Given the description of an element on the screen output the (x, y) to click on. 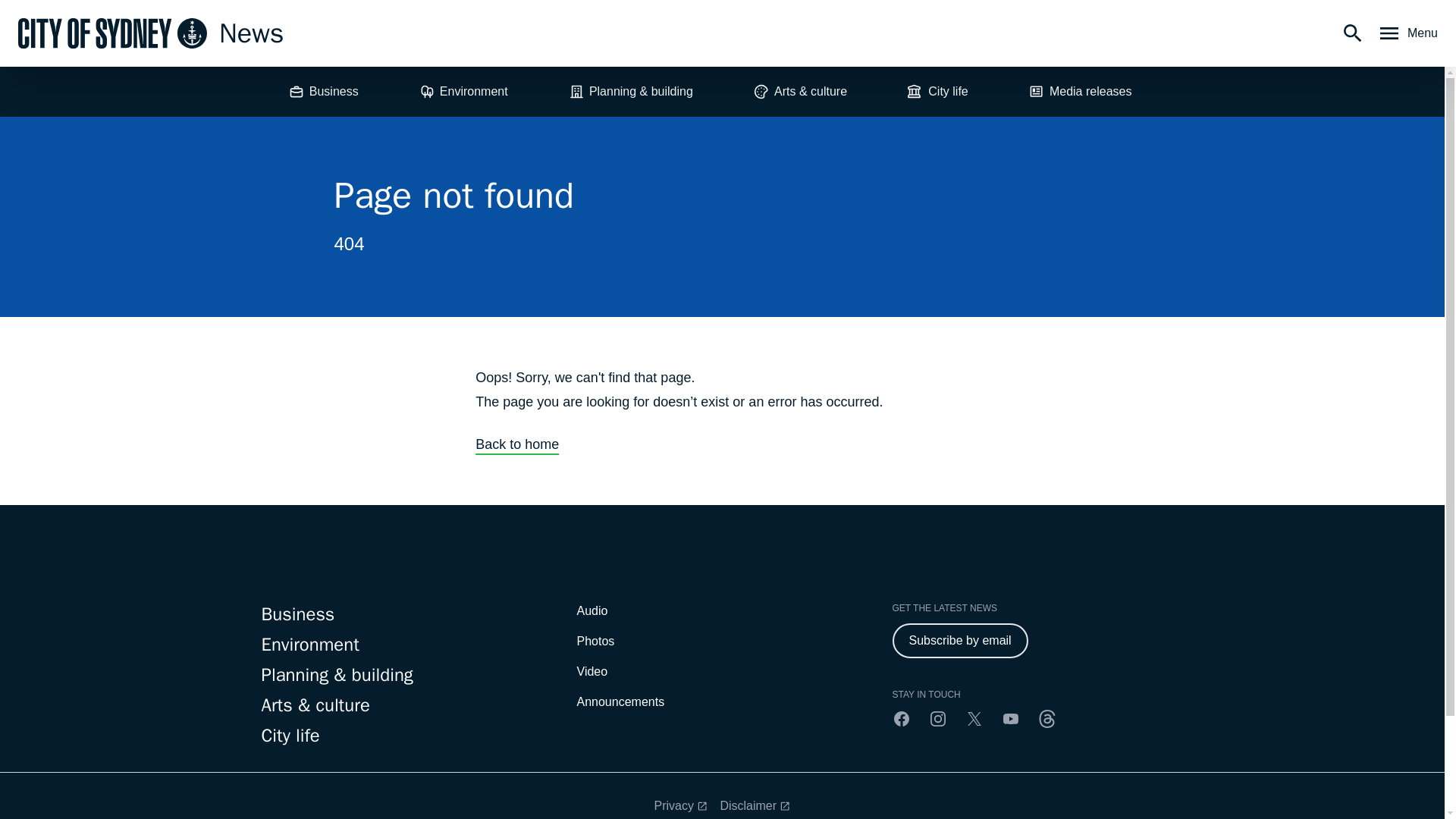
News (150, 33)
Facebook (900, 719)
Photos (595, 640)
Environment (463, 91)
YouTube (1010, 719)
Environment (405, 644)
Disclaimer (754, 805)
Subscribe by email (959, 640)
Audio (591, 610)
City life (938, 91)
